Given the description of an element on the screen output the (x, y) to click on. 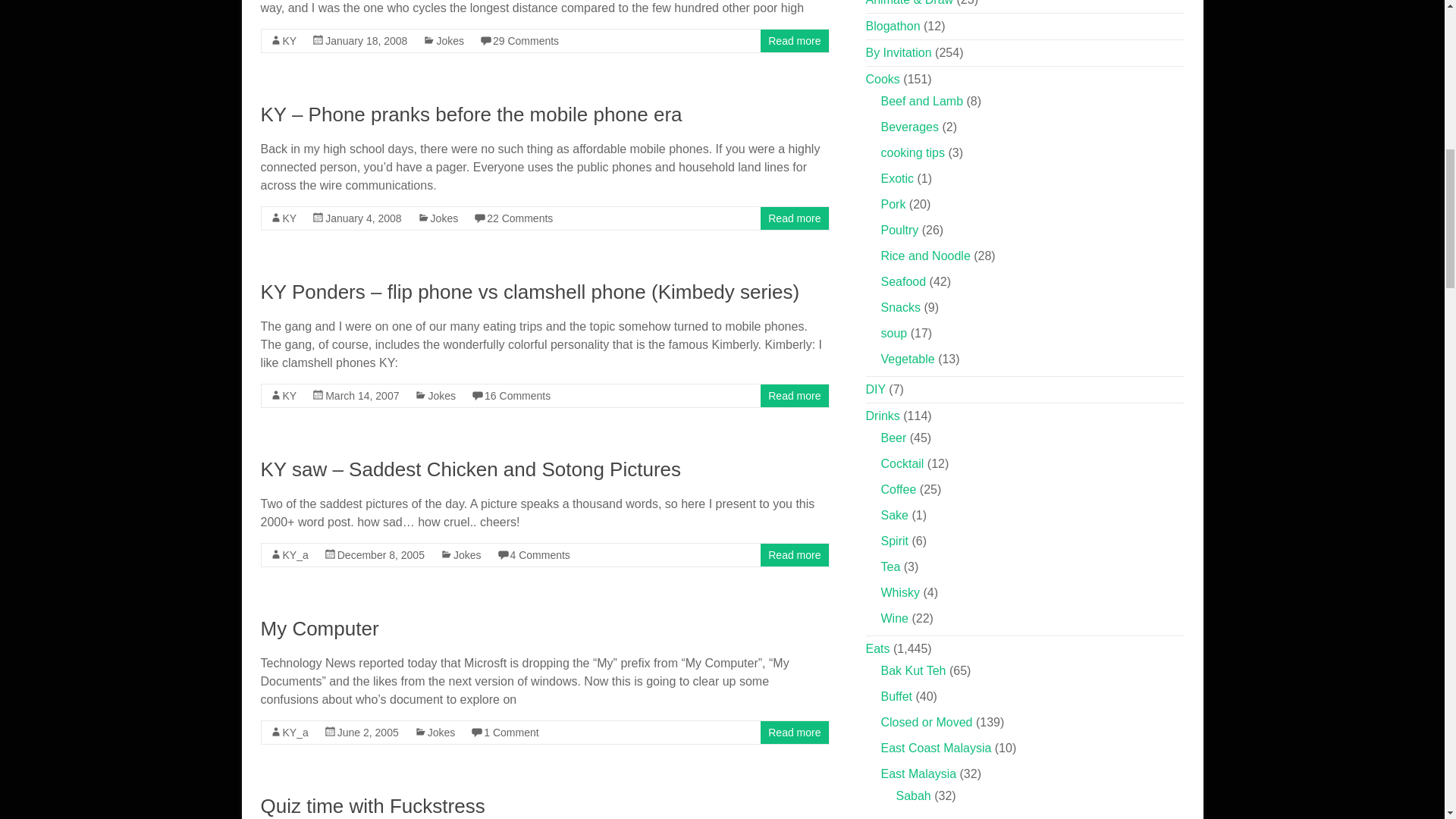
3:11 pm (365, 40)
29 Comments (526, 40)
KY (289, 395)
KY (289, 40)
Jokes (444, 218)
Jokes (449, 40)
January 4, 2008 (362, 218)
10:37 am (381, 554)
22 Comments (519, 218)
Read more (794, 40)
10:06 am (361, 395)
KY (289, 218)
9:32 am (362, 218)
January 18, 2008 (365, 40)
Read more (794, 218)
